Given the description of an element on the screen output the (x, y) to click on. 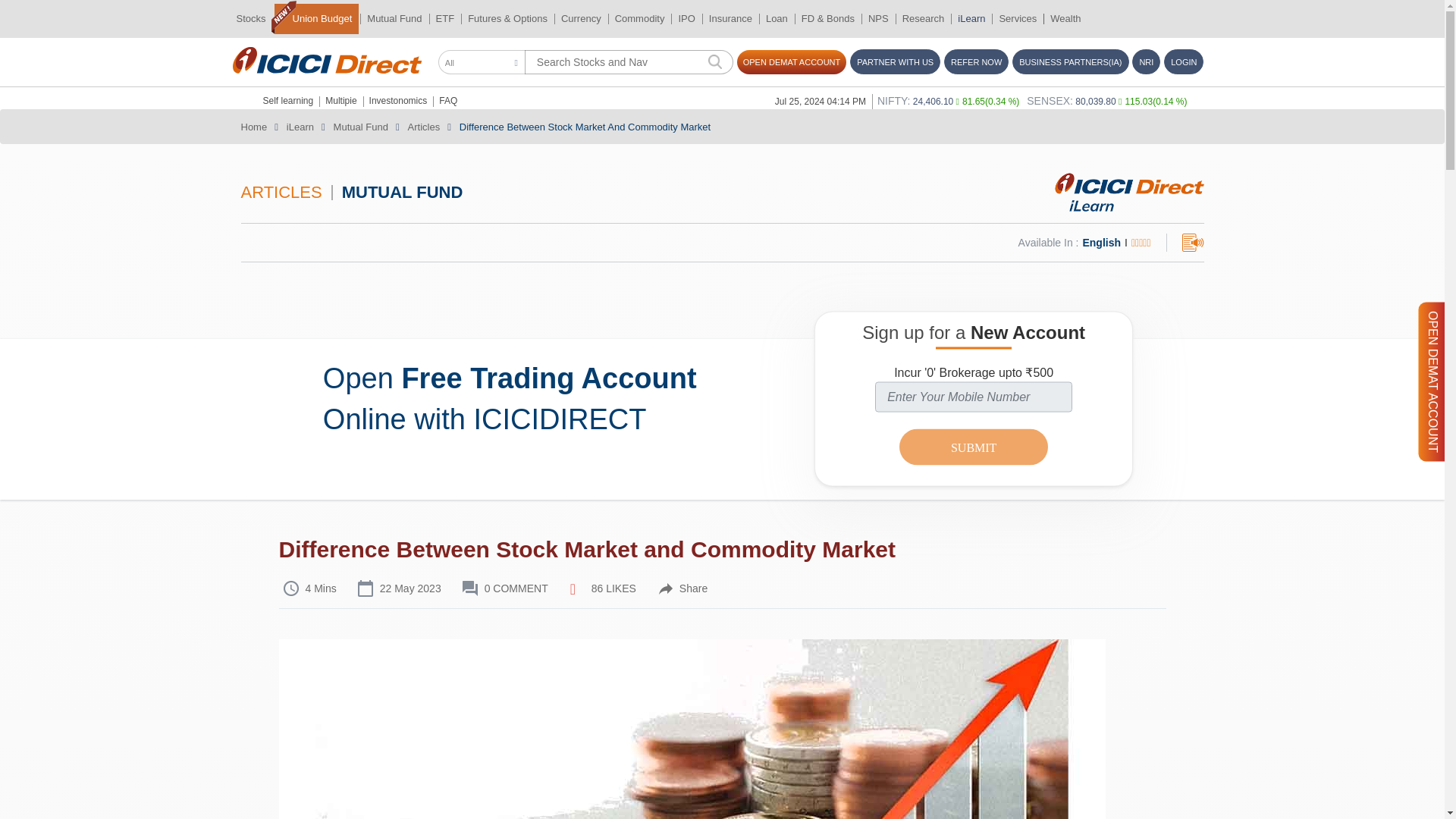
Currency (581, 19)
All (481, 61)
Union Budget (317, 18)
Stocks (250, 19)
Mutual Fund (393, 19)
ETF (445, 19)
